Given the description of an element on the screen output the (x, y) to click on. 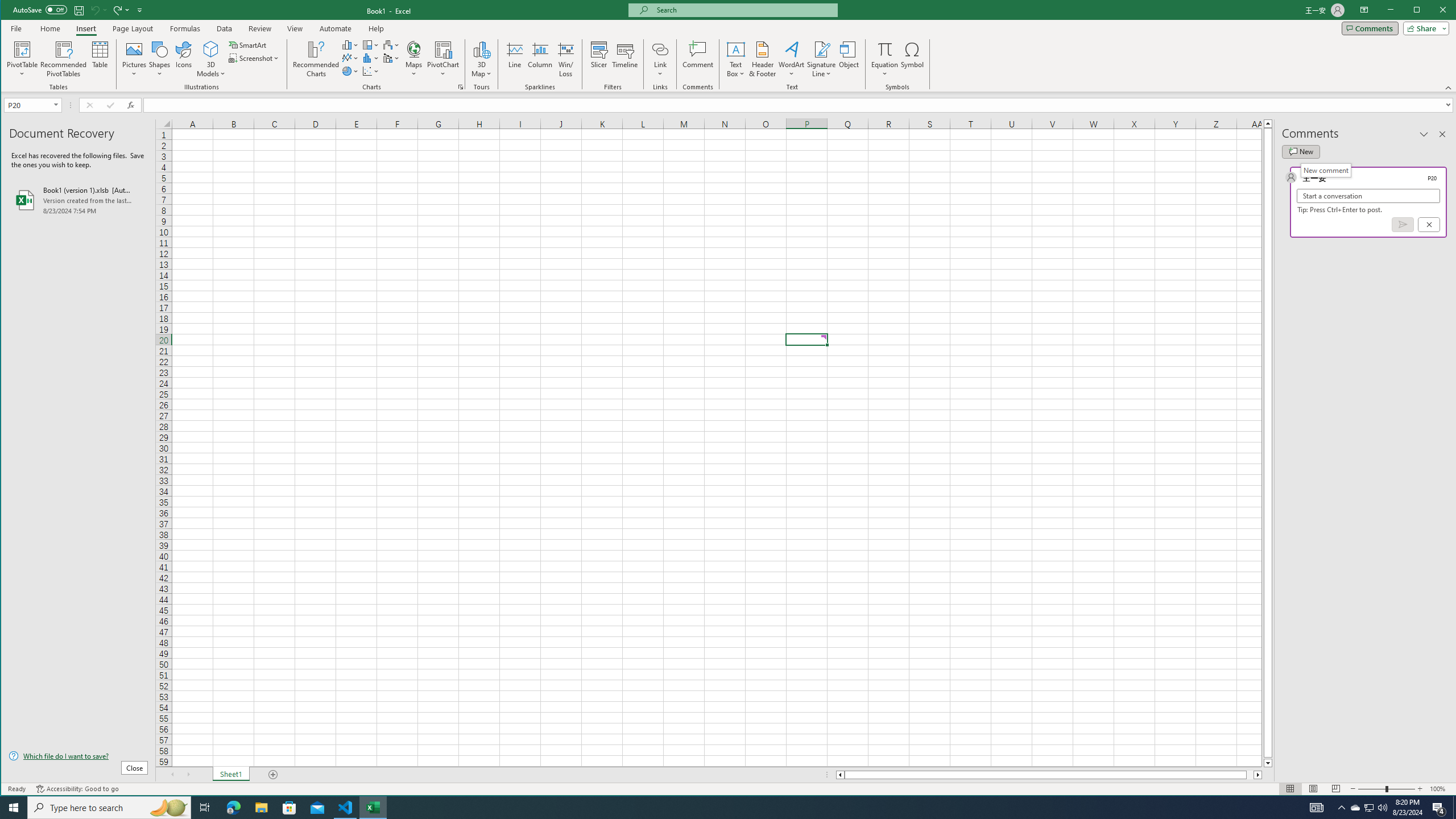
Maps (413, 59)
Shapes (159, 59)
File Tab (16, 27)
Column (540, 59)
Timeline (625, 59)
Recommended Charts (460, 86)
Review (259, 28)
Column right (1258, 774)
Save (79, 9)
Zoom (1386, 788)
System (11, 10)
Equation (884, 48)
Microsoft Store (289, 807)
Add Sheet (272, 774)
Signature Line (821, 48)
